Given the description of an element on the screen output the (x, y) to click on. 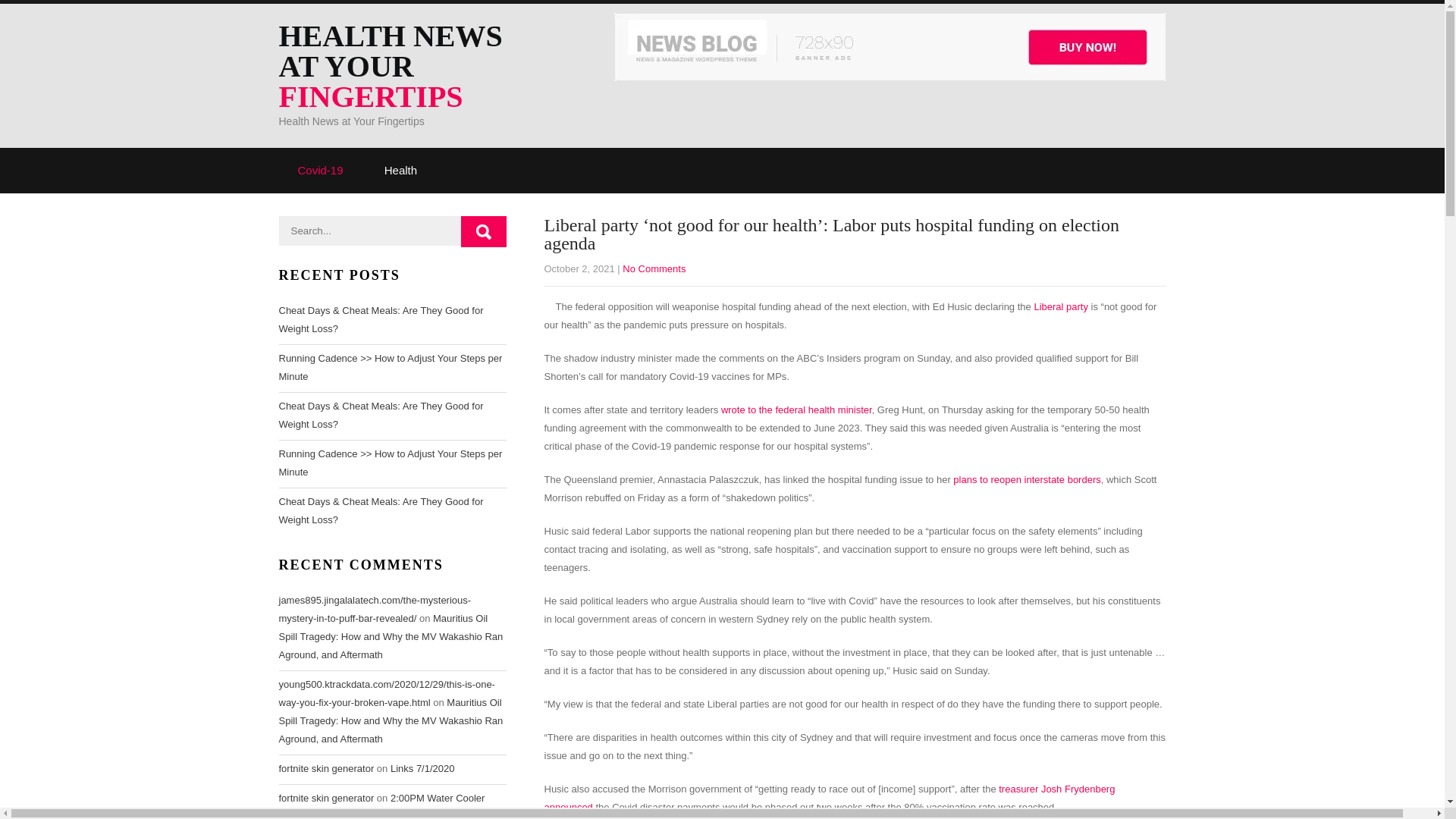
wrote to the federal health minister (796, 409)
Covid-19 (320, 170)
Liberal party (1060, 306)
fortnite skin generator (326, 797)
Search (483, 231)
fortnite skin generator (326, 767)
No Comments (654, 268)
HEALTH NEWS AT YOUR FINGERTIPS (411, 66)
